Given the description of an element on the screen output the (x, y) to click on. 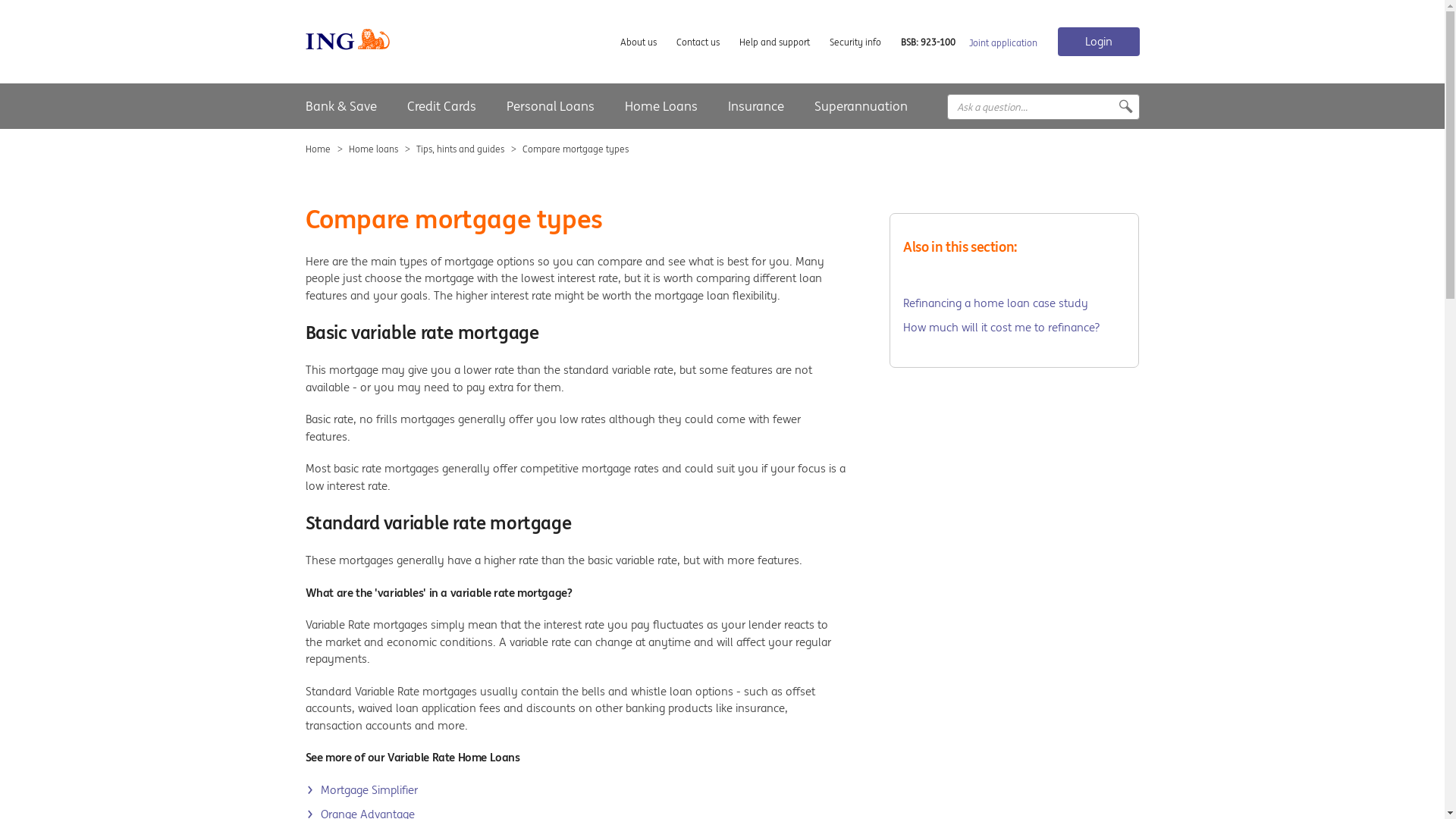
Personal Loans Element type: text (550, 105)
Security info Element type: text (855, 41)
Superannuation Element type: text (860, 105)
Mortgage Simplifier Element type: text (360, 789)
Joint application Element type: text (1003, 42)
Bank & Save Element type: text (340, 105)
Help and support Element type: text (773, 41)
Home Element type: text (316, 148)
Insurance Element type: text (755, 105)
How much will it cost me to refinance? Element type: text (1014, 327)
Refinancing a home loan case study Element type: text (1014, 302)
Home loans Element type: text (373, 148)
Credit Cards Element type: text (440, 105)
Share this Element type: hover (1113, 106)
ING Element type: hover (412, 106)
Home Loans Element type: text (660, 105)
Contact us Element type: text (697, 41)
Tips, hints and guides Element type: text (459, 148)
About us Element type: text (638, 41)
